Given the description of an element on the screen output the (x, y) to click on. 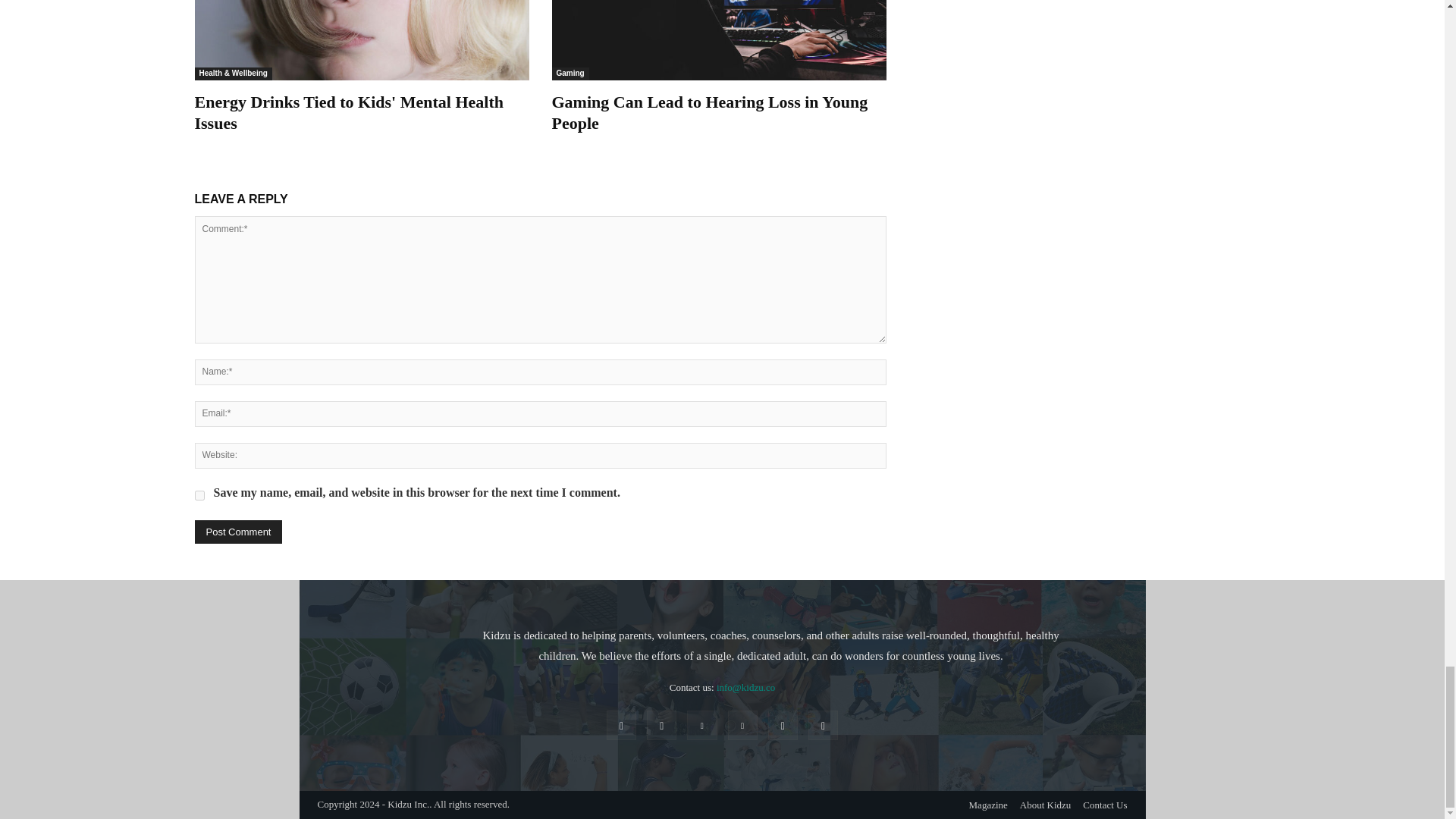
yes (198, 495)
Post Comment (237, 531)
